Given the description of an element on the screen output the (x, y) to click on. 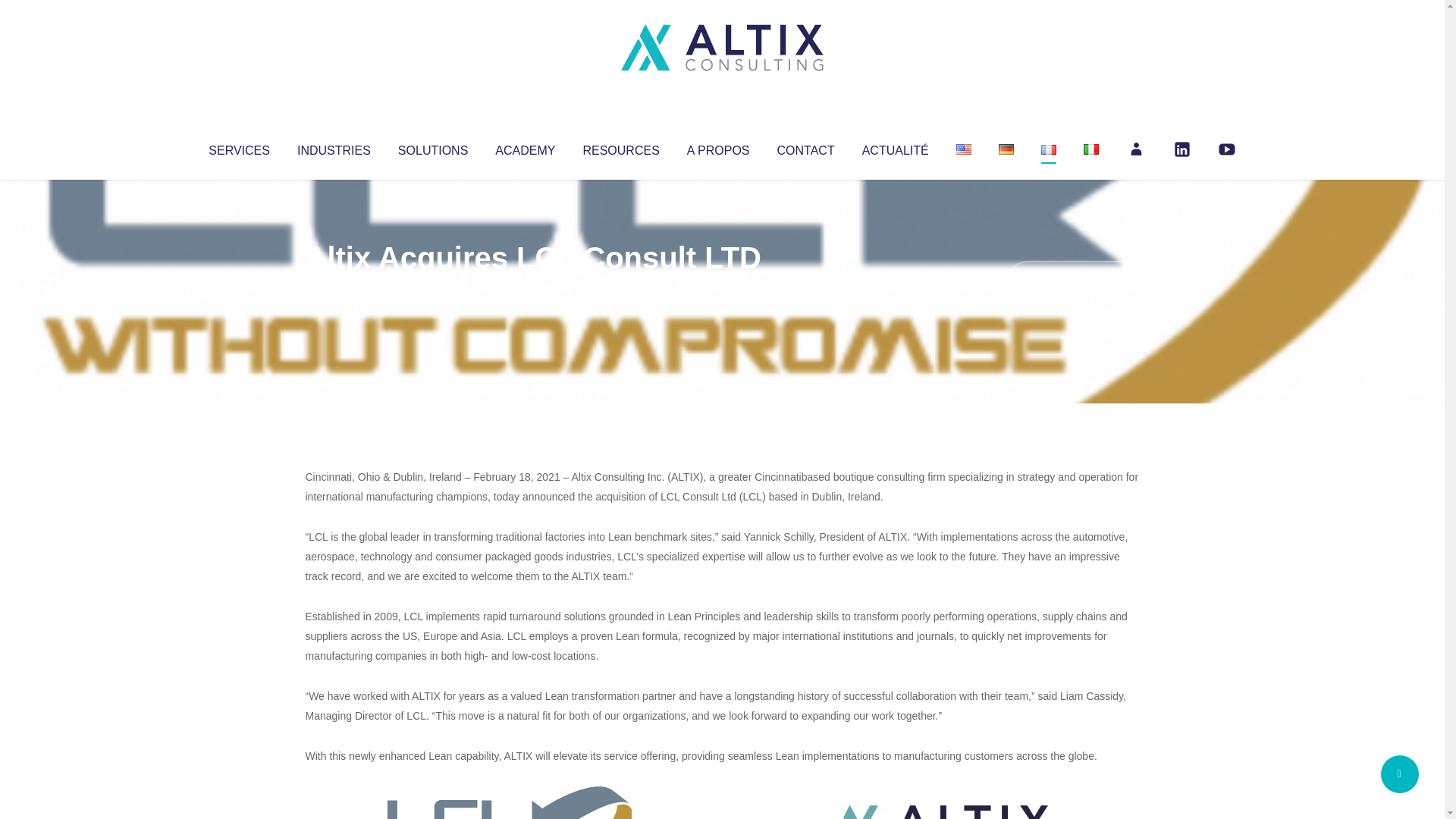
SERVICES (238, 146)
INDUSTRIES (334, 146)
No Comments (1073, 278)
A PROPOS (718, 146)
Uncategorized (530, 287)
Articles par Altix (333, 287)
RESOURCES (620, 146)
ACADEMY (524, 146)
SOLUTIONS (432, 146)
Altix (333, 287)
